Given the description of an element on the screen output the (x, y) to click on. 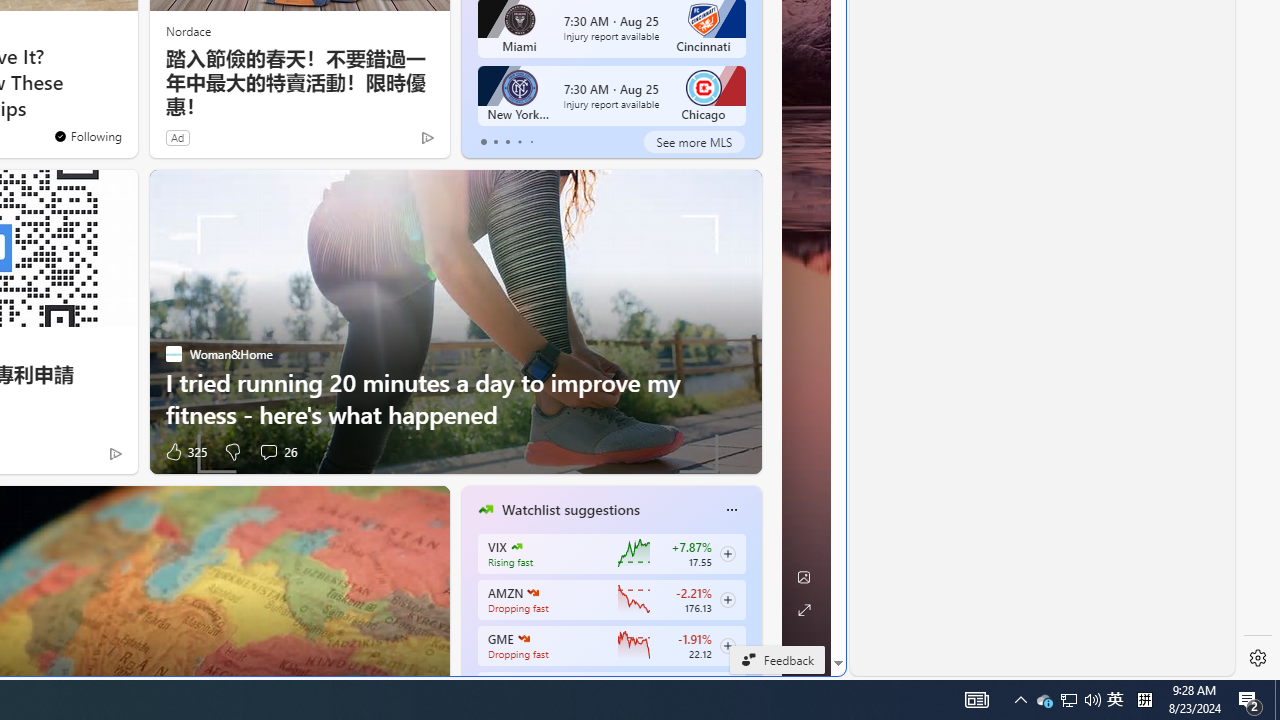
Expand background (803, 610)
Watchlist suggestions (570, 510)
